Given the description of an element on the screen output the (x, y) to click on. 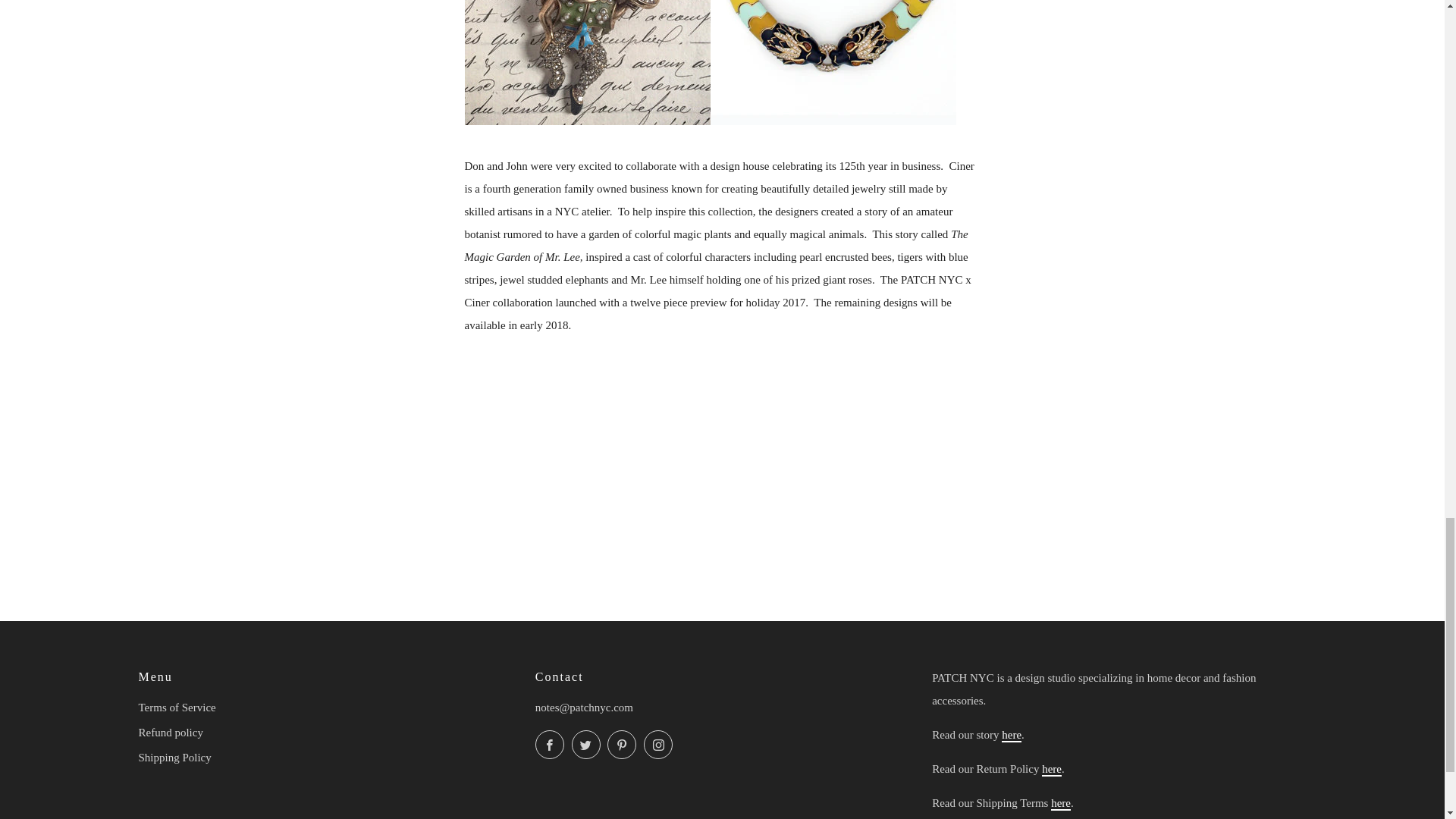
HISTORY (1011, 735)
Refund Policy (1051, 769)
Shipping Policy (1060, 803)
